Given the description of an element on the screen output the (x, y) to click on. 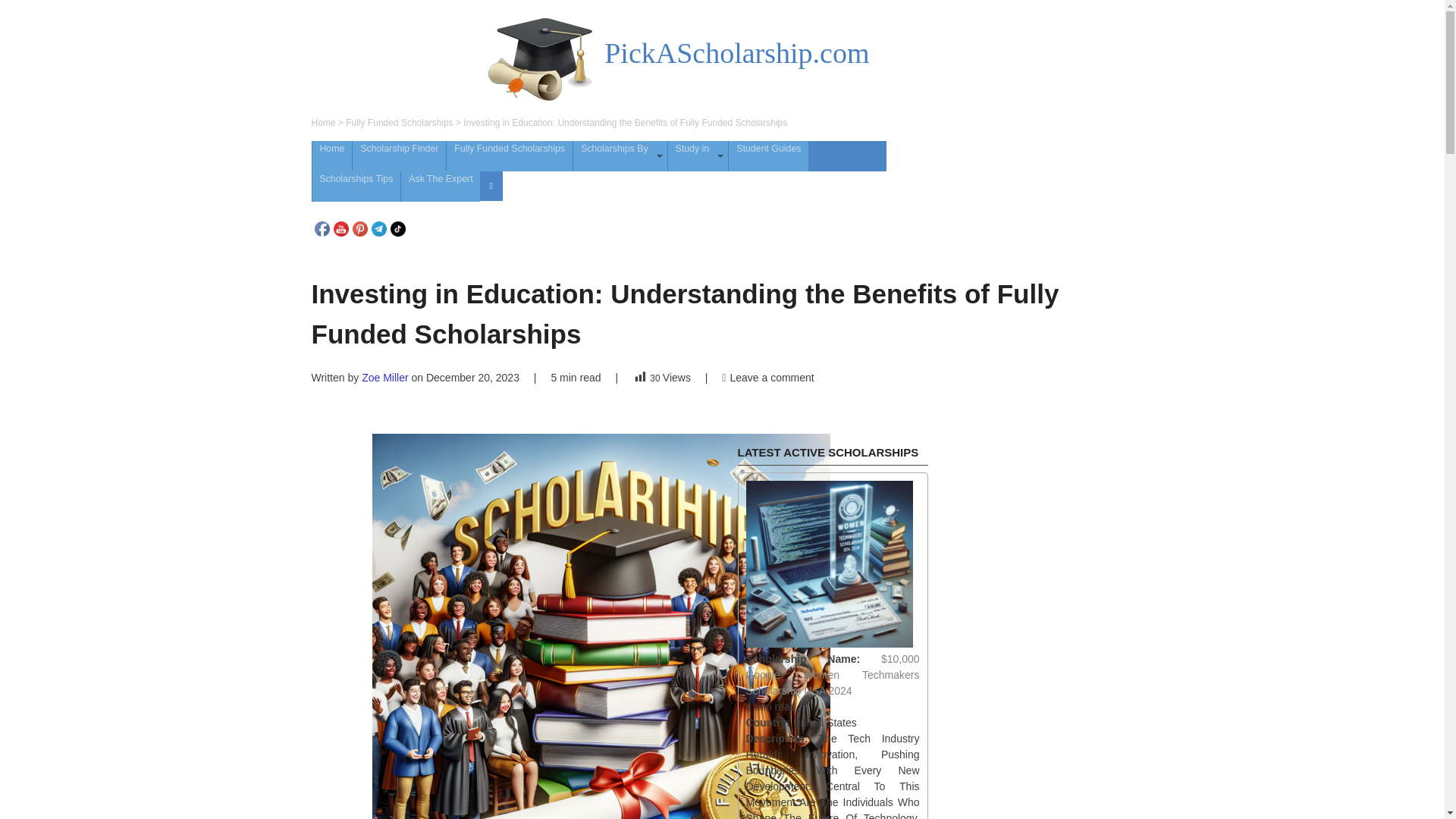
PickAScholarship.com (736, 52)
YouTube (341, 228)
Facebook (321, 228)
Go to the Fully Funded Scholarships Category archives. (399, 122)
Home (332, 155)
Fully Funded Scholarships (399, 122)
Scholarship Finder (398, 155)
Scholarships By (619, 155)
Pinterest (359, 228)
Tiktok (397, 228)
Telegram (379, 228)
Go to PickAScholarship.com. (322, 122)
Fully Funded Scholarships (509, 155)
Home (322, 122)
